Given the description of an element on the screen output the (x, y) to click on. 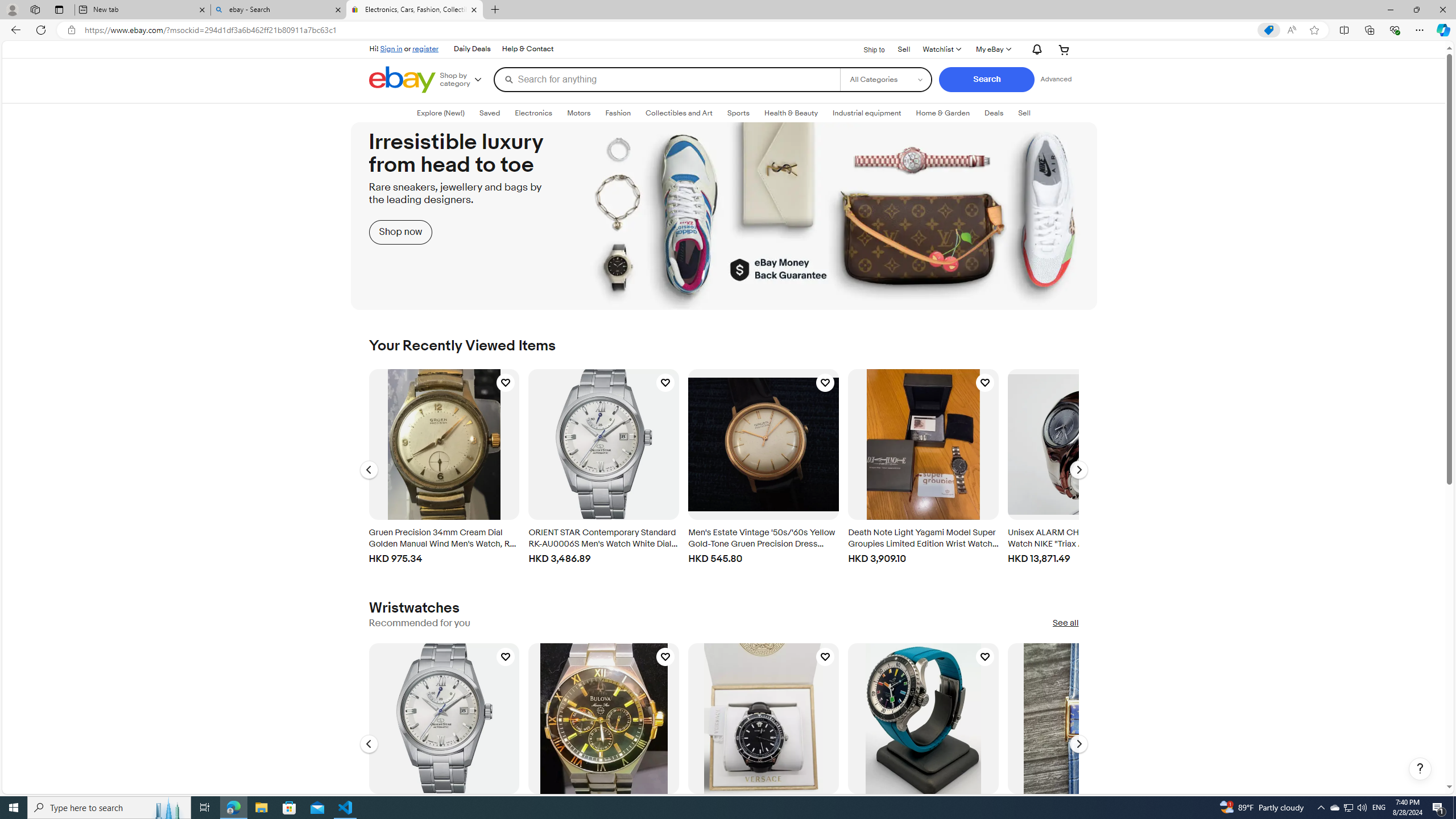
Class: vl-flyout-nav__js-tab vl-flyout-nav__no-sub (993, 112)
Ship to (866, 49)
Explore (New!) (440, 112)
Industrial equipment (866, 112)
Help, opens dialogs (1420, 768)
